Given the description of an element on the screen output the (x, y) to click on. 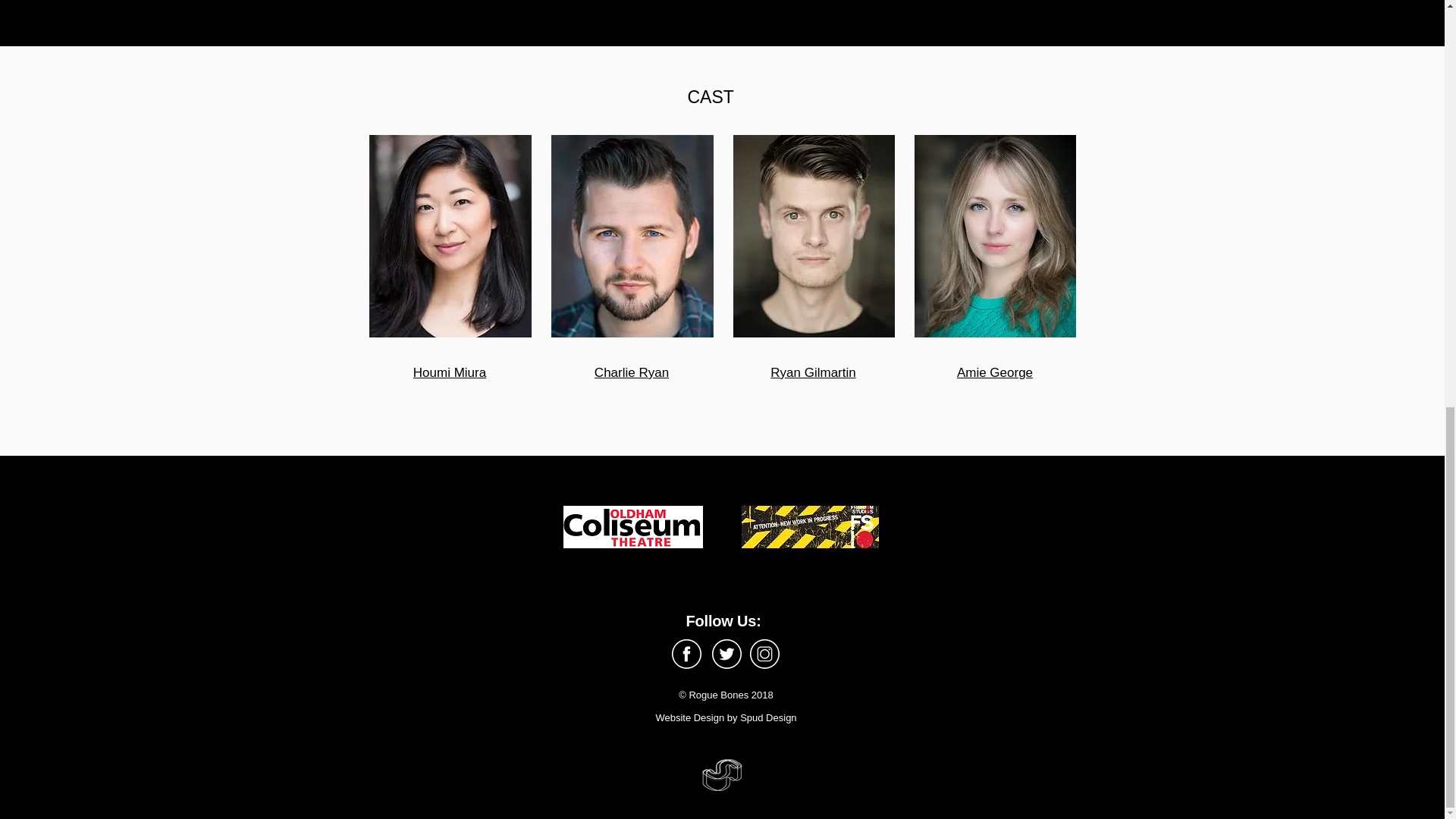
Charlie Ryan (631, 372)
Ryan Gilmartin (813, 372)
Amie George (994, 372)
Houmi Miura (449, 372)
